Given the description of an element on the screen output the (x, y) to click on. 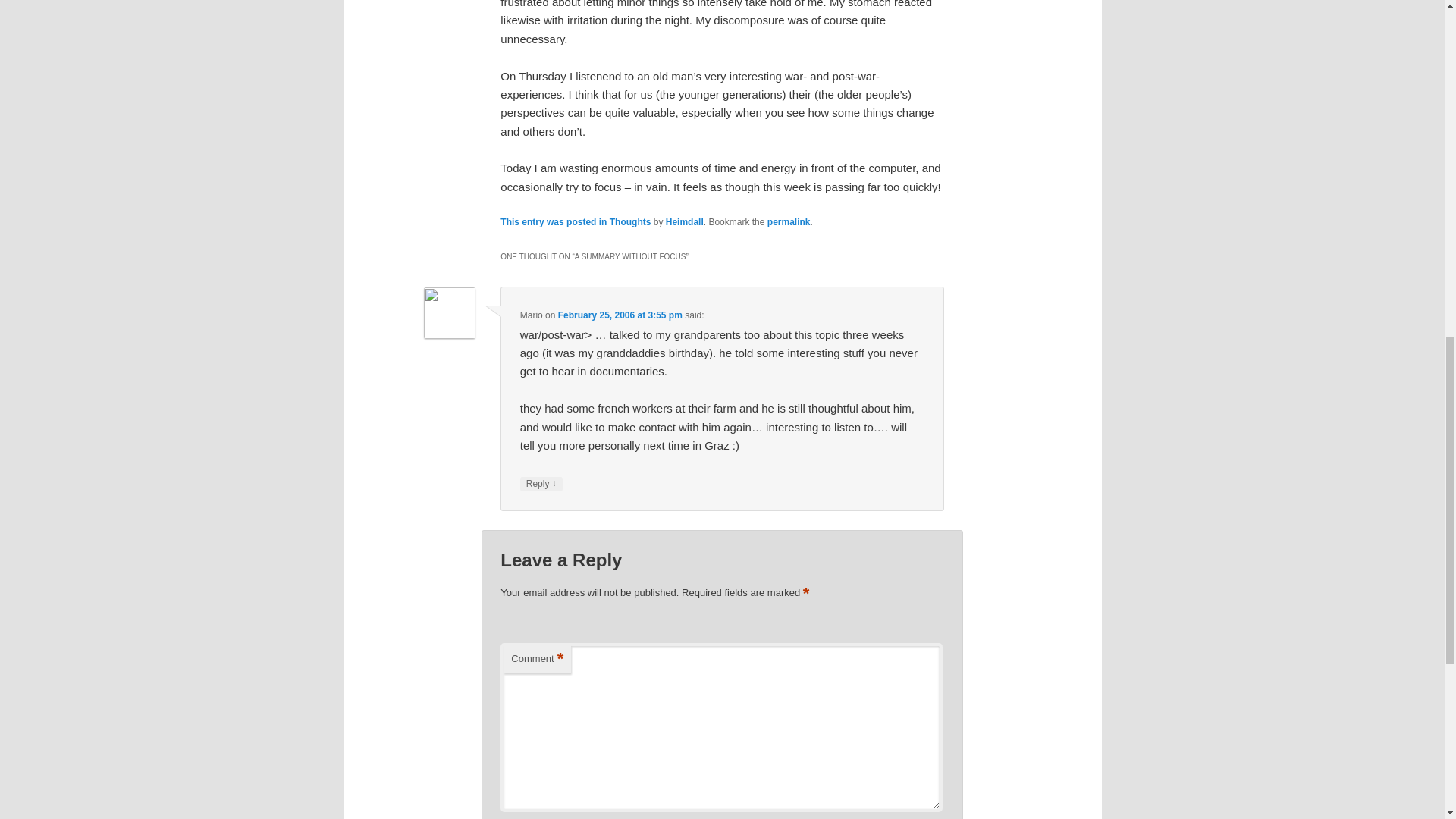
This entry was posted in (554, 222)
February 25, 2006 at 3:55 pm (619, 315)
Permalink to A summary without focus (788, 222)
Thoughts (630, 222)
Heimdall (684, 222)
permalink (788, 222)
